Given the description of an element on the screen output the (x, y) to click on. 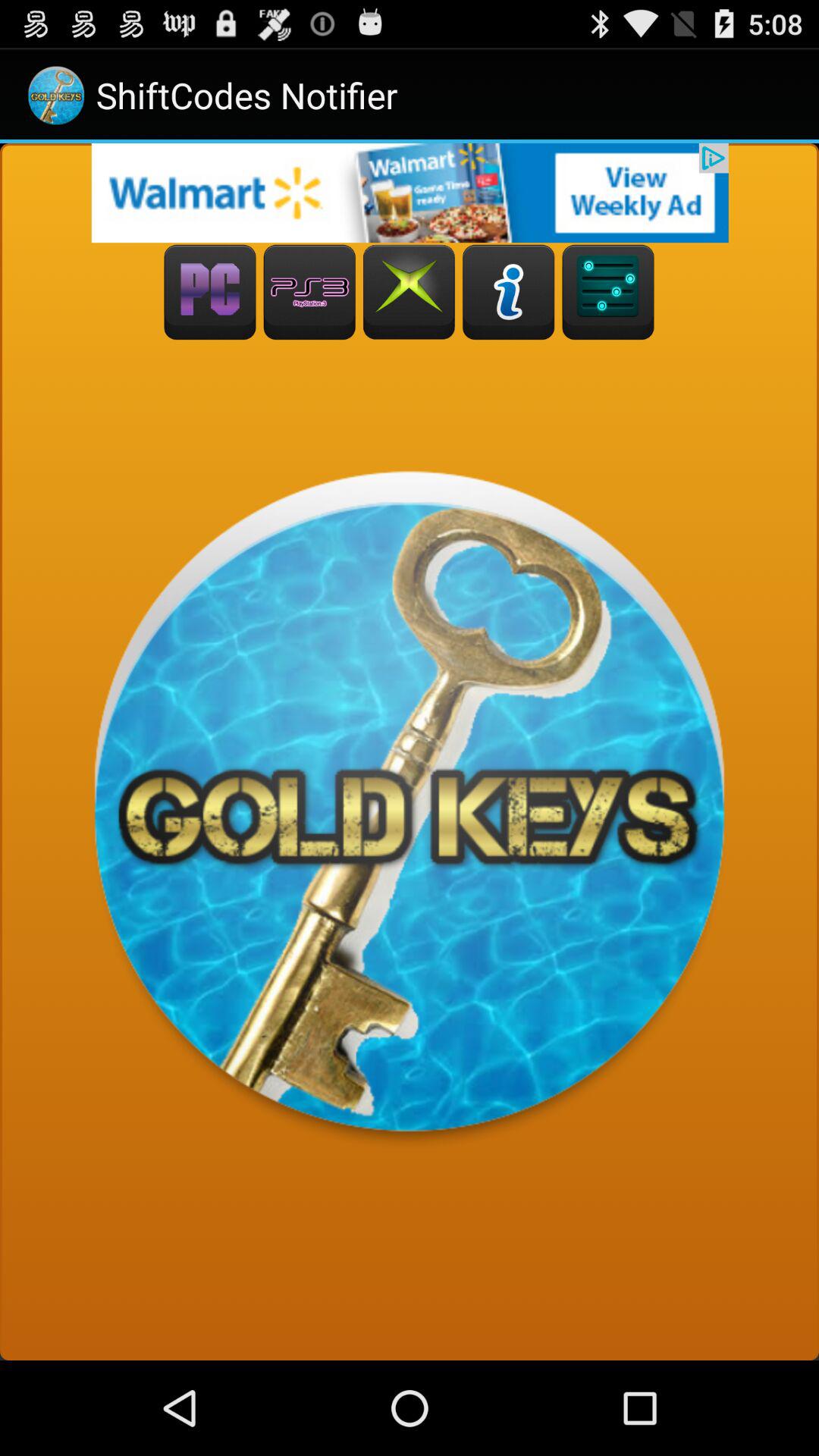
launch pc (209, 292)
